Given the description of an element on the screen output the (x, y) to click on. 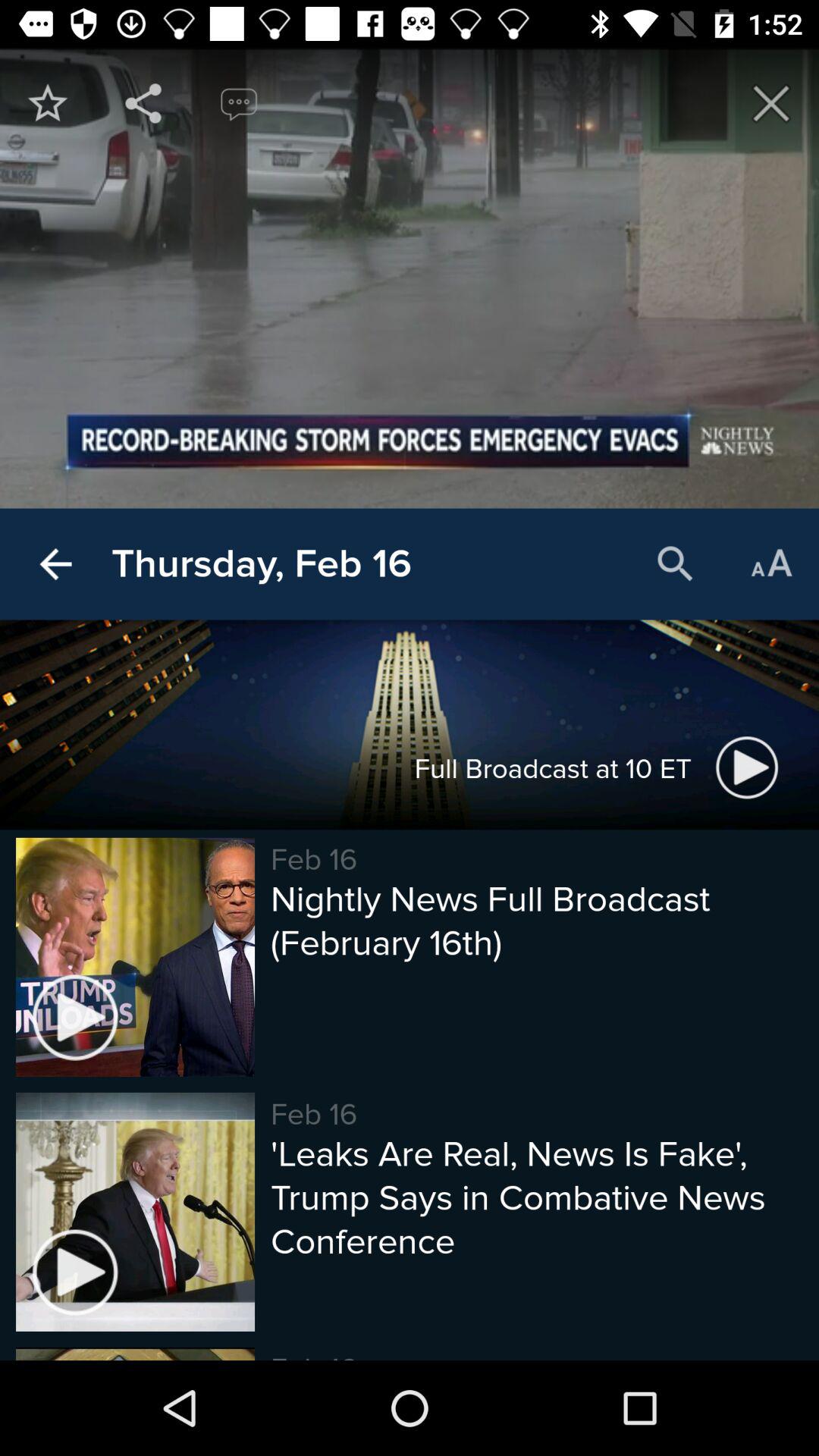
click the item next to the thursday, feb 16 (55, 563)
